Given the description of an element on the screen output the (x, y) to click on. 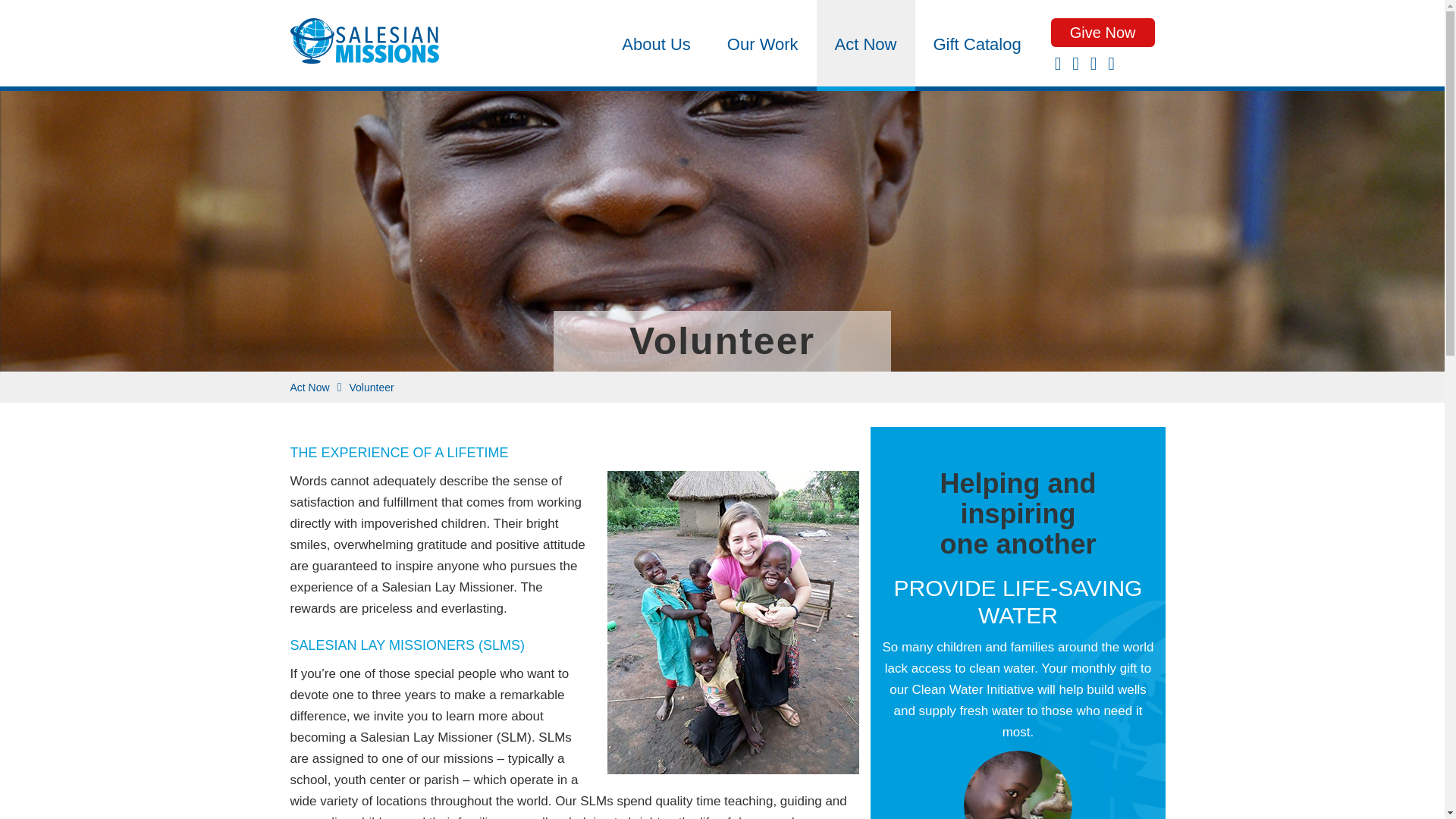
Our Work (762, 43)
Volunteer (371, 387)
Salesian Missions (363, 45)
stories03 (1017, 785)
Act Now (865, 43)
About Us (656, 43)
Act Now (309, 387)
